Given the description of an element on the screen output the (x, y) to click on. 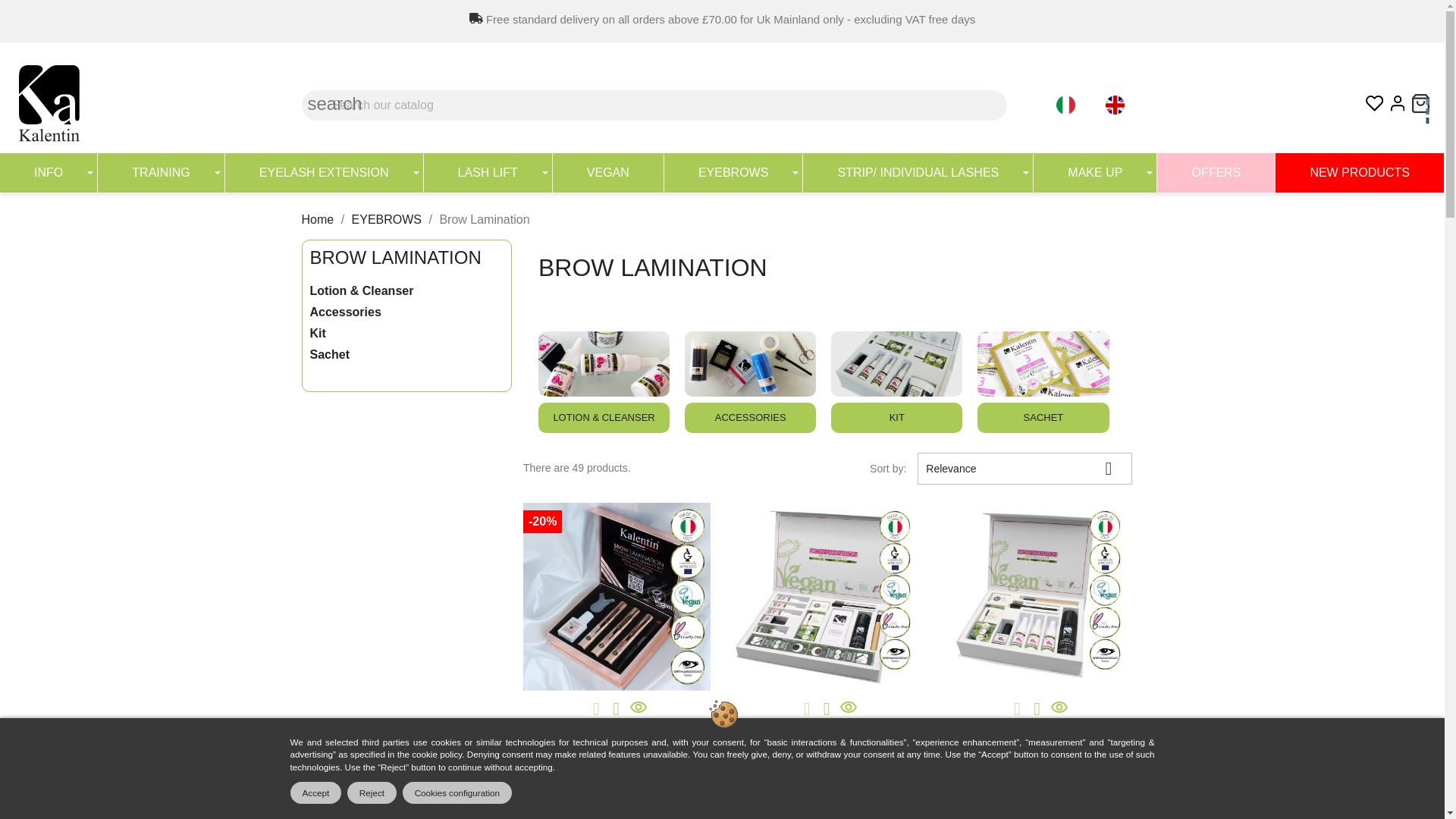
Accept (314, 792)
Accessories (749, 364)
INFO (48, 172)
EYELASH EXTENSION (324, 172)
Add to Wishlist (1036, 709)
Add to Wishlist (616, 709)
Login (1397, 106)
Quick view (636, 712)
Cart (1420, 103)
Quick view (846, 712)
